Given the description of an element on the screen output the (x, y) to click on. 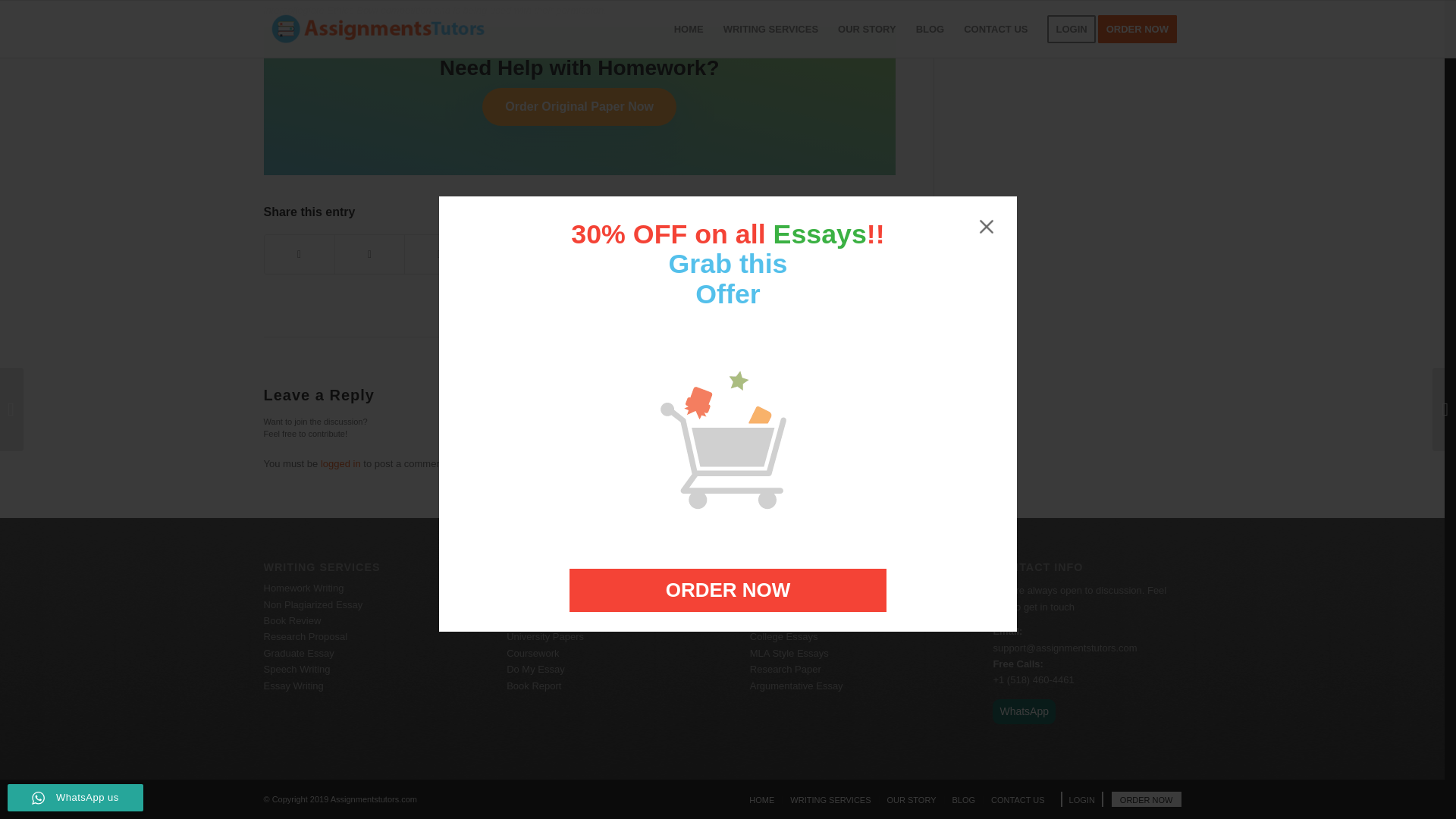
Order Original Paper Now (579, 106)
